Given the description of an element on the screen output the (x, y) to click on. 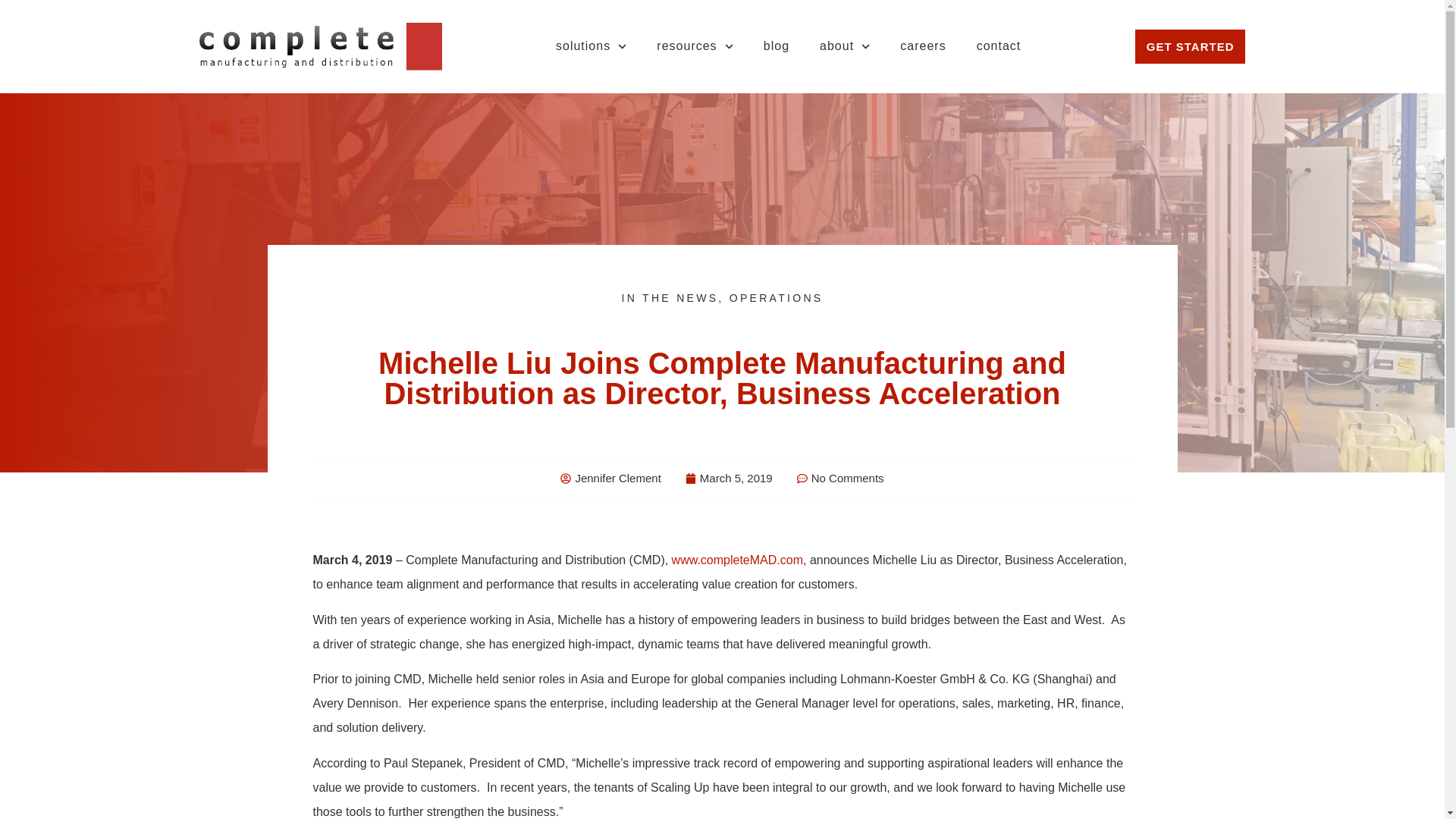
contact (998, 45)
resources (695, 45)
blog (776, 45)
about (845, 45)
solutions (591, 45)
careers (922, 45)
